Given the description of an element on the screen output the (x, y) to click on. 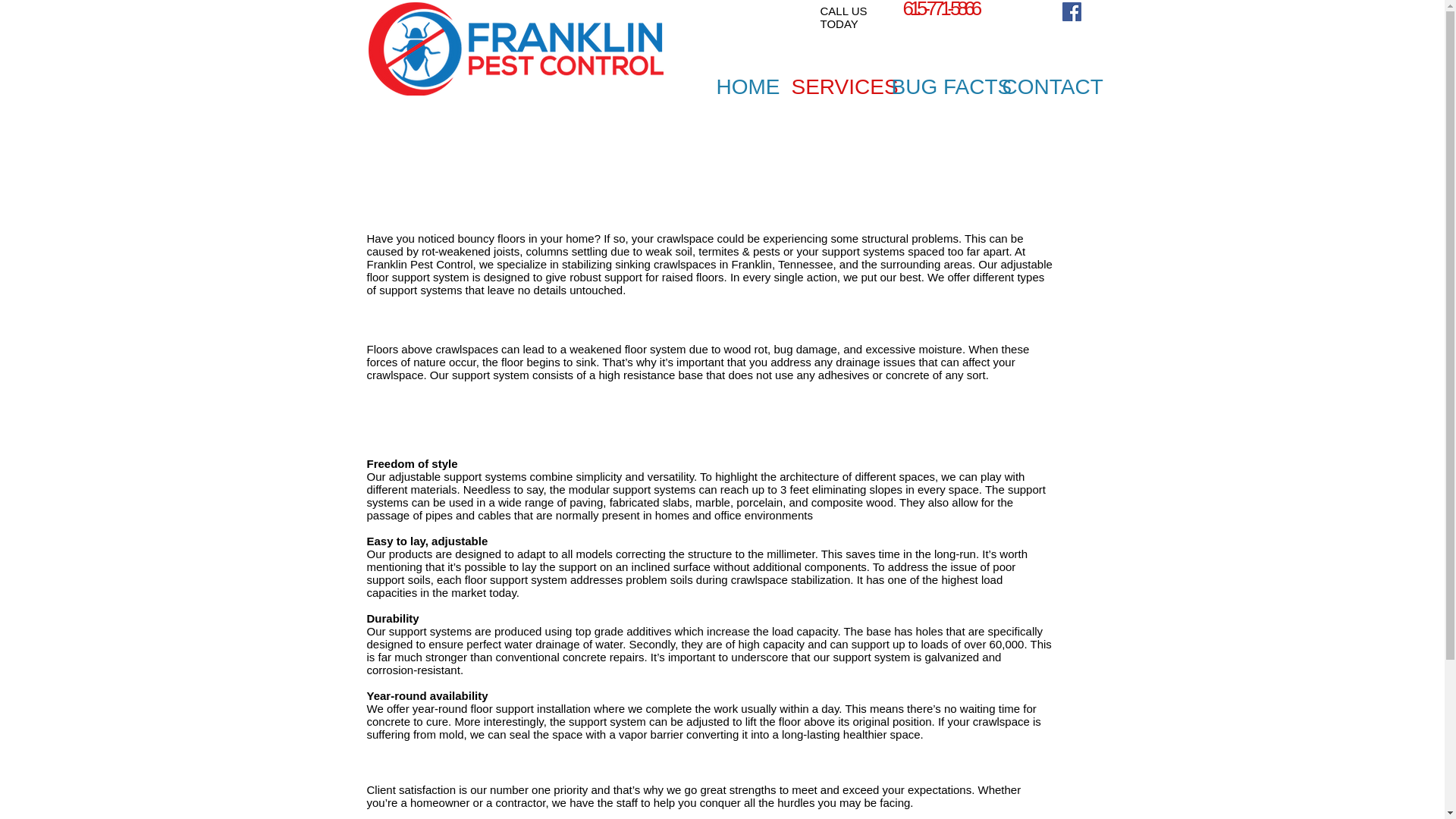
BUG FACTS (934, 86)
SERVICES (828, 86)
CONTACT (1038, 86)
floor support installation (530, 707)
HOME (742, 86)
